Given the description of an element on the screen output the (x, y) to click on. 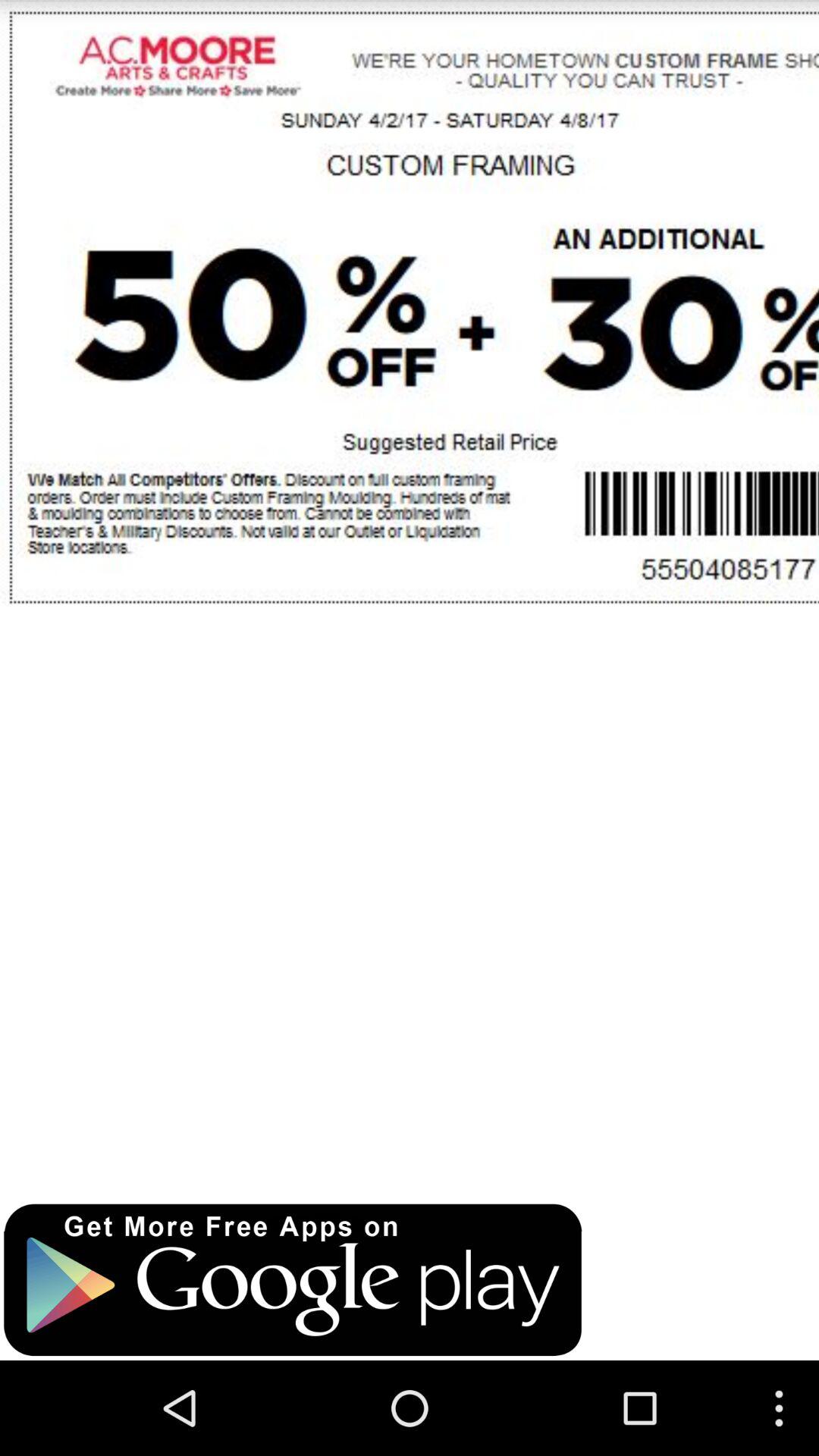
advertisement banner (292, 1280)
